Given the description of an element on the screen output the (x, y) to click on. 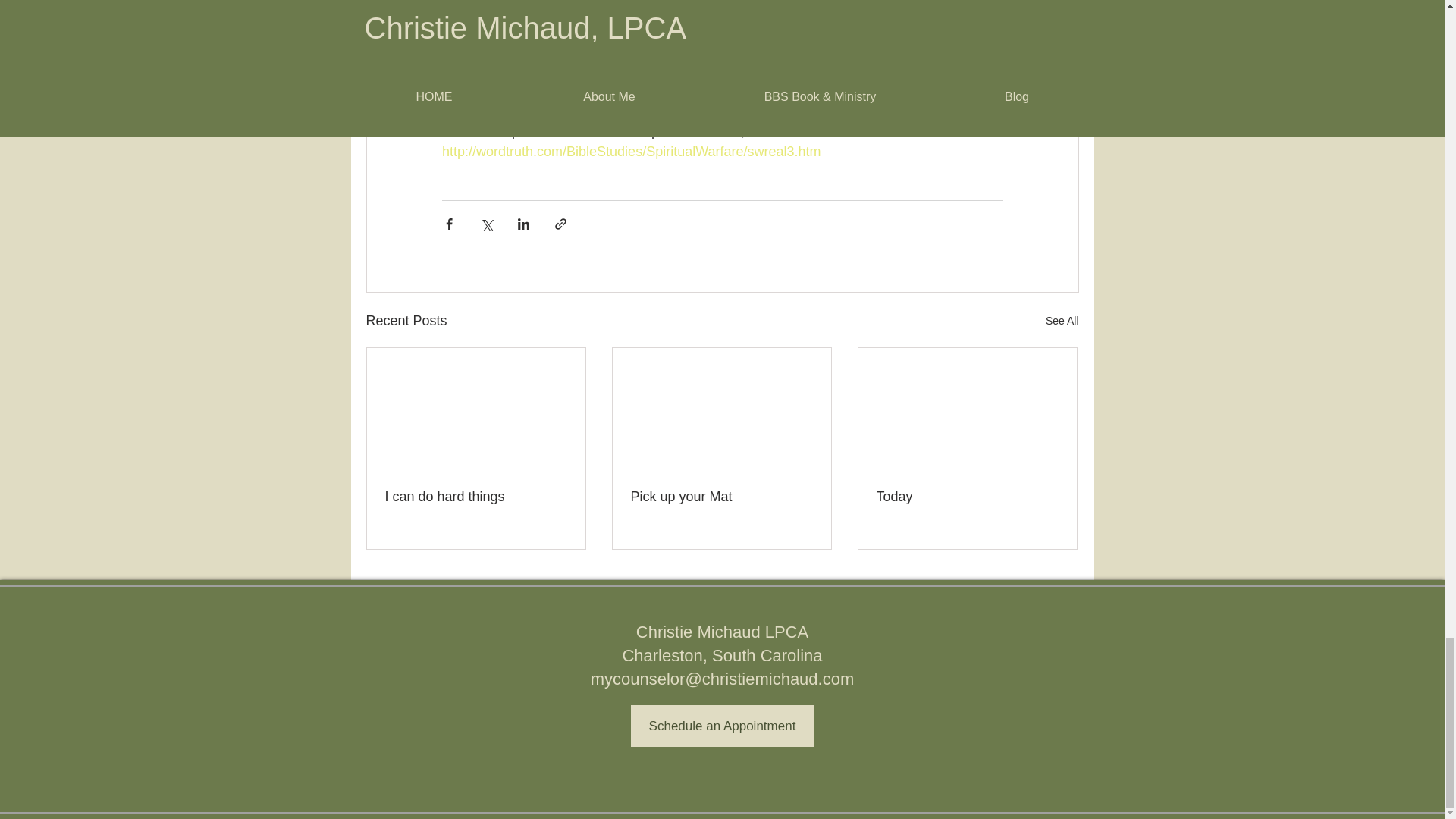
See All (1061, 321)
Today (967, 496)
Pick up your Mat (721, 496)
Schedule an Appointment (721, 725)
I can do hard things (476, 496)
